Given the description of an element on the screen output the (x, y) to click on. 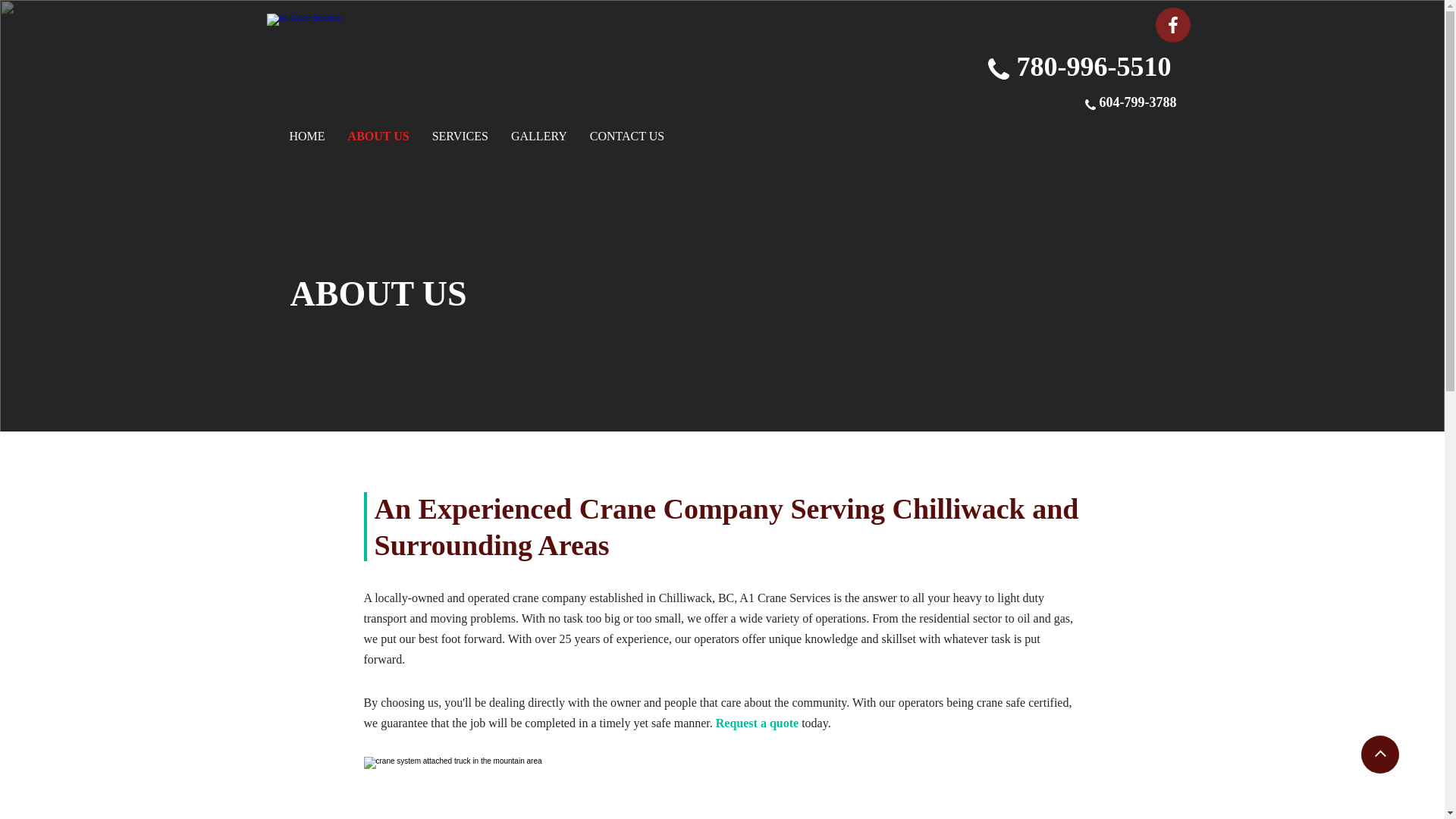
CONTACT US Element type: text (626, 136)
604-799-3788 Element type: text (1137, 104)
Request a quote Element type: text (756, 724)
ABOUT US Element type: text (378, 136)
HOME Element type: text (307, 136)
780-996-5510 Element type: text (1093, 65)
GALLERY Element type: text (539, 136)
SERVICES Element type: text (460, 136)
